Given the description of an element on the screen output the (x, y) to click on. 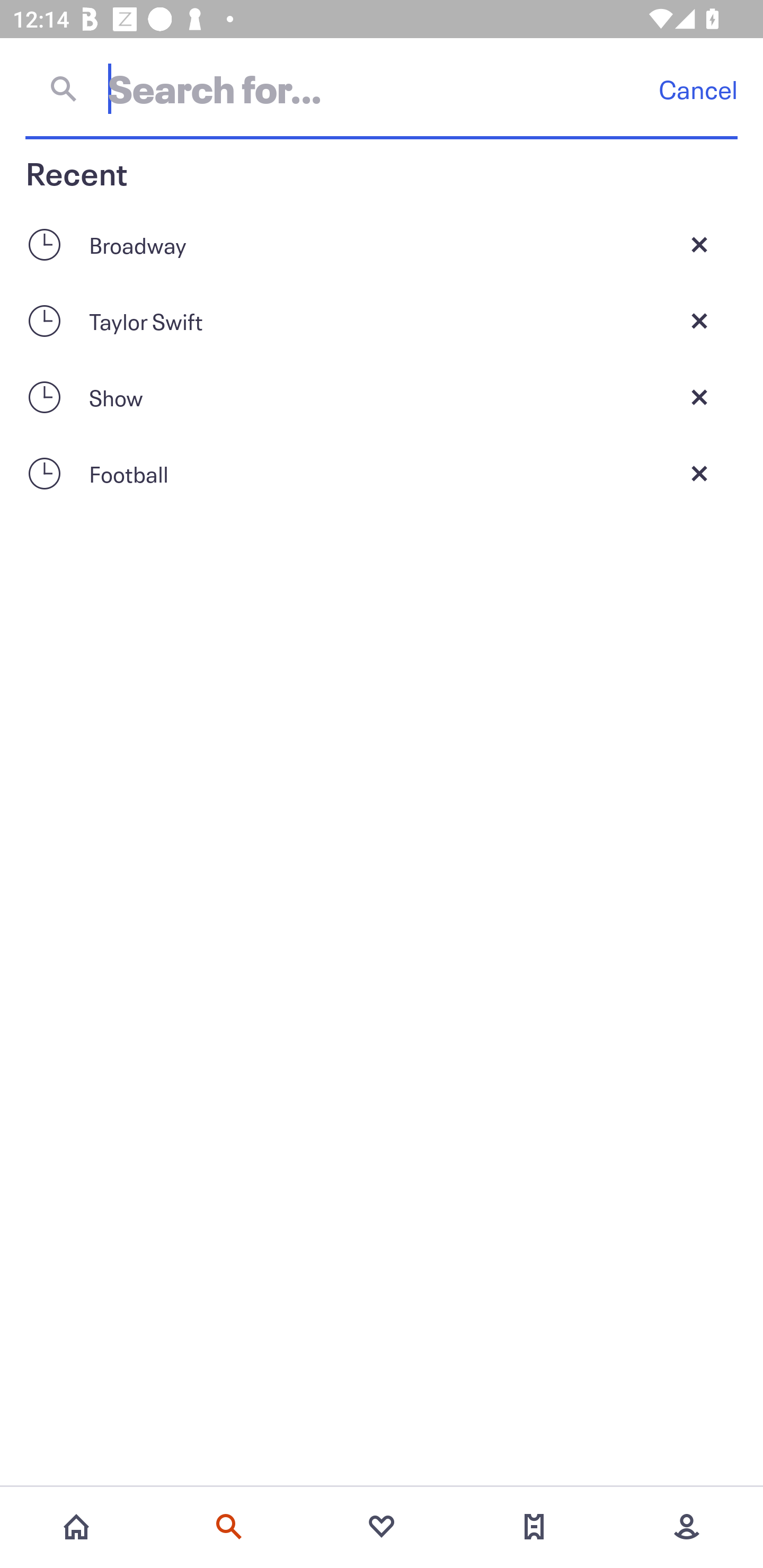
Cancel Search for… (381, 88)
Cancel (697, 89)
Broadway Close current screen (381, 244)
Close current screen (699, 244)
Taylor Swift Close current screen (381, 320)
Close current screen (699, 320)
Show Close current screen (381, 397)
Close current screen (699, 397)
Football Close current screen (381, 473)
Close current screen (699, 473)
Home (76, 1526)
Search events (228, 1526)
Favorites (381, 1526)
Tickets (533, 1526)
More (686, 1526)
